Given the description of an element on the screen output the (x, y) to click on. 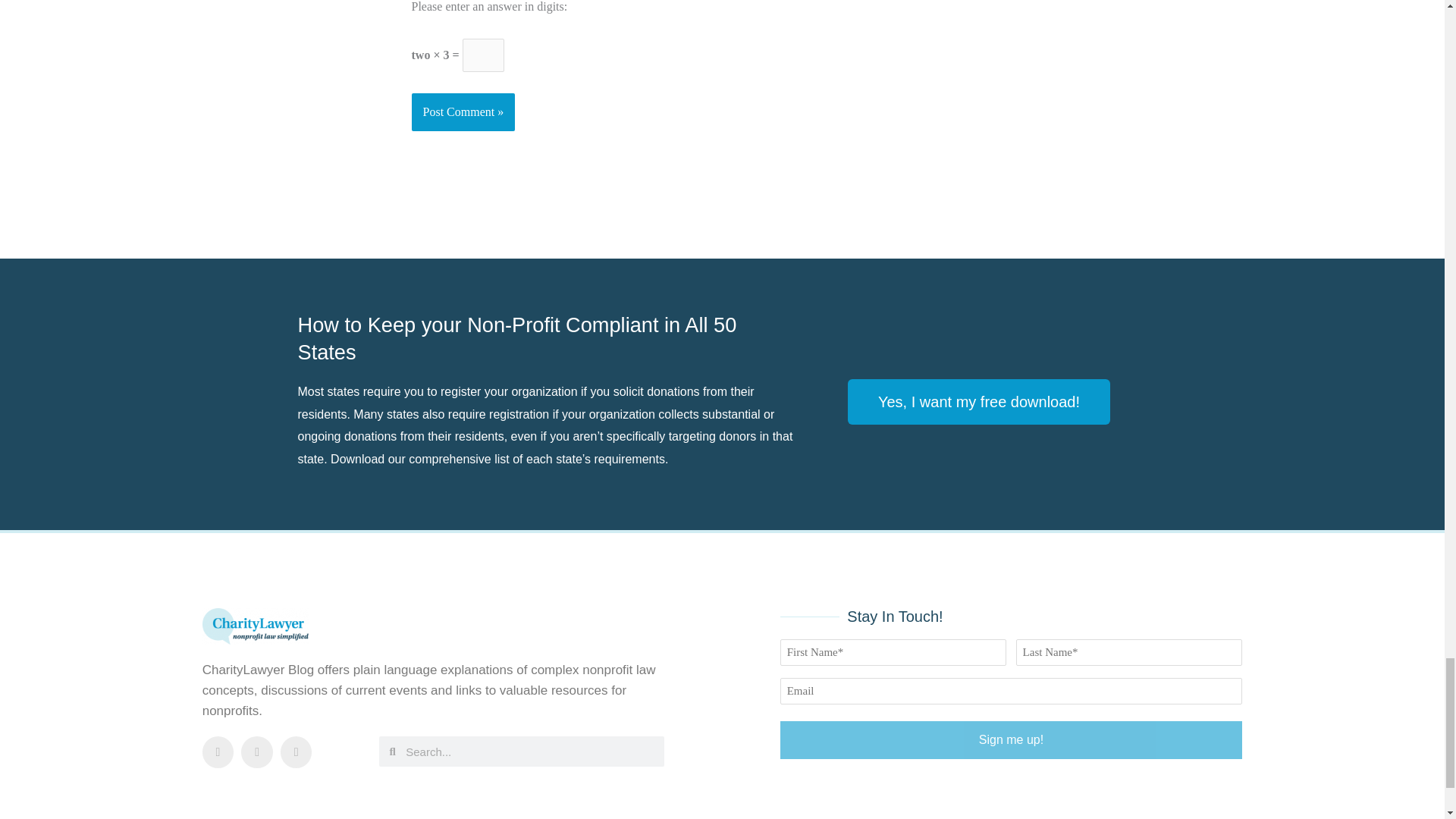
Sign me up! (1011, 740)
